Given the description of an element on the screen output the (x, y) to click on. 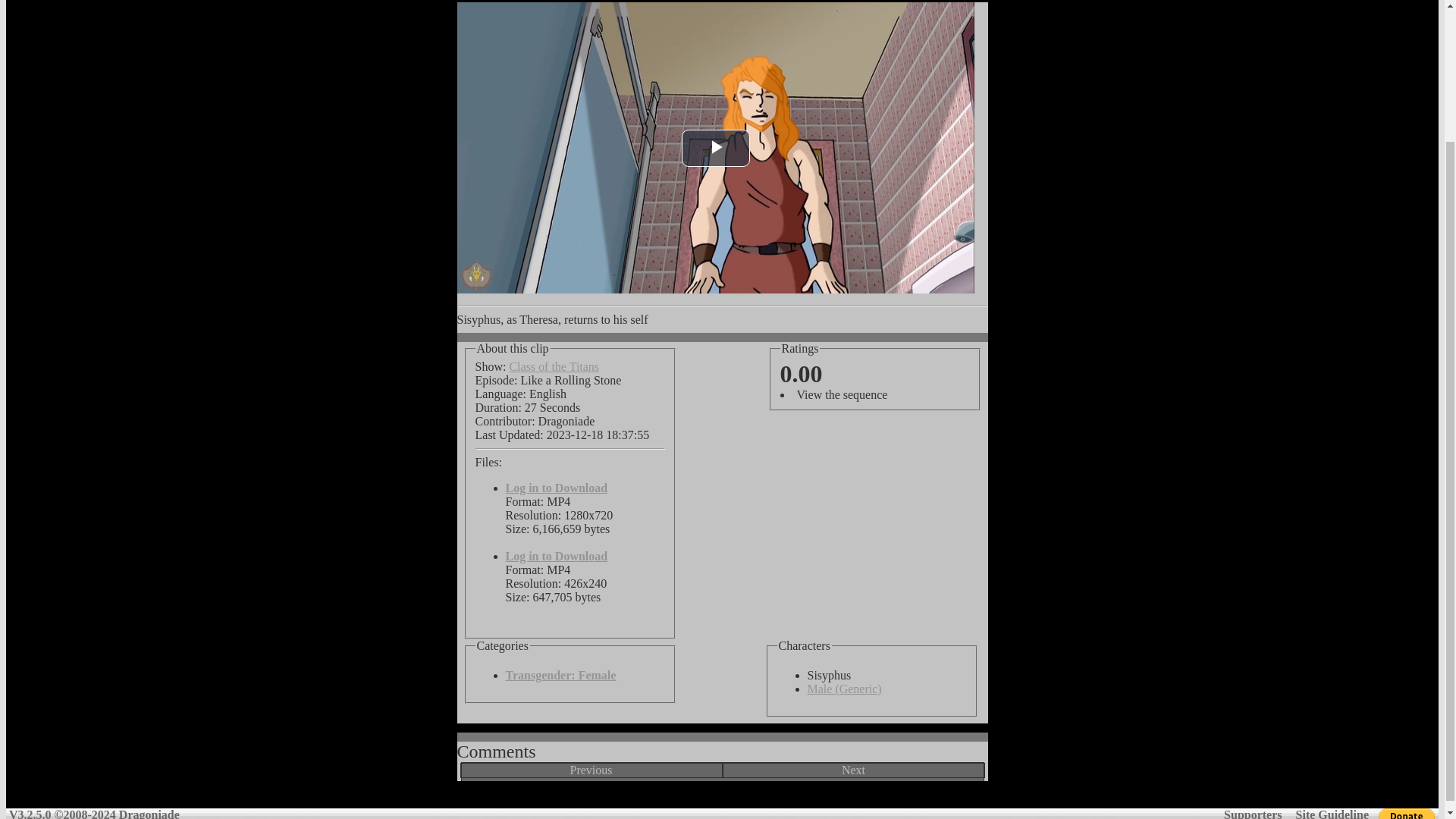
Log in to Download (556, 487)
Log in to Download (556, 555)
Transgender: Female (560, 675)
Sisyphus (803, 645)
Play Video (715, 148)
Class of the Titans (553, 366)
Play Video (715, 148)
